Given the description of an element on the screen output the (x, y) to click on. 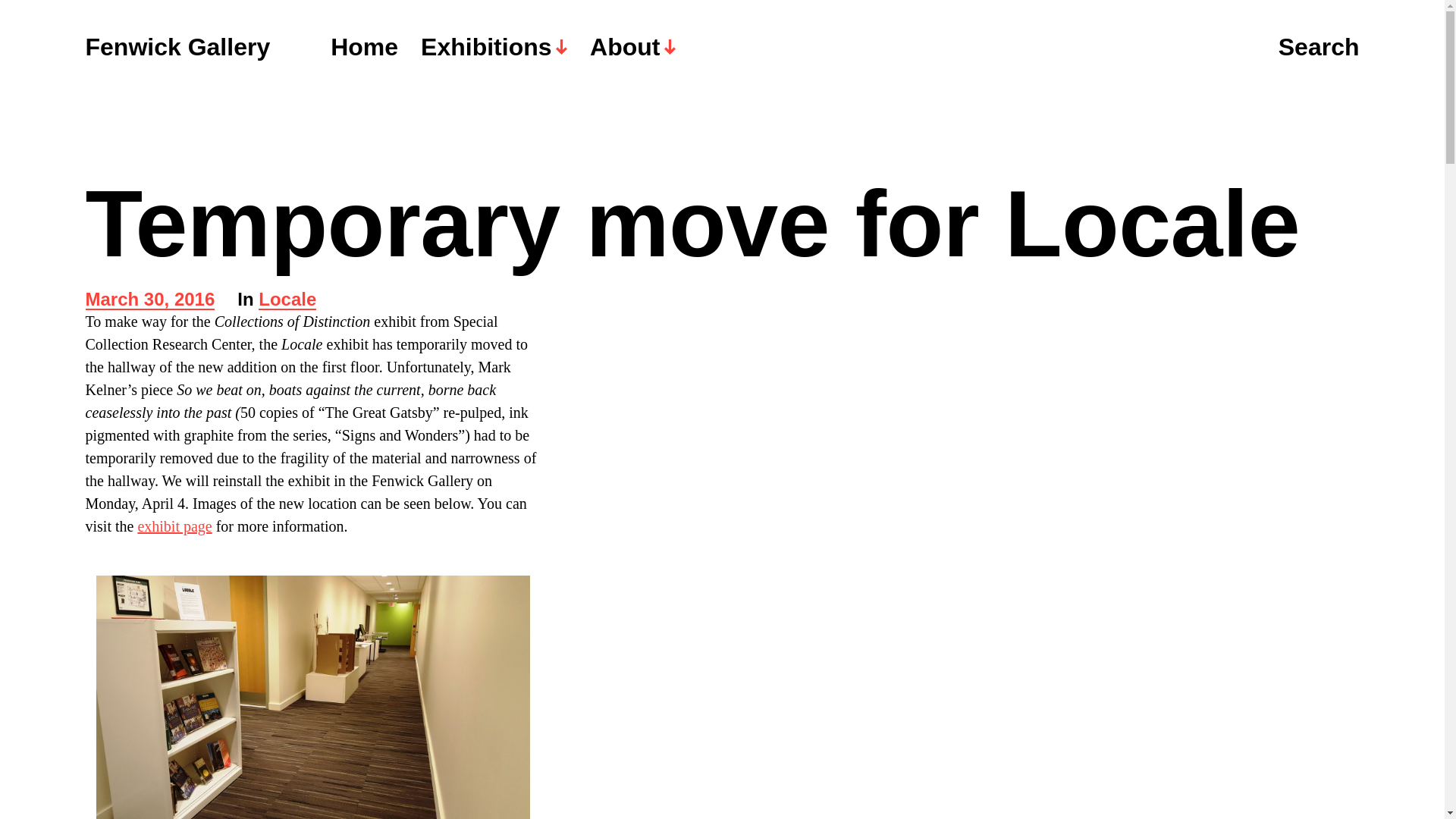
About (632, 47)
Locale (287, 300)
Fenwick Gallery (176, 47)
Search (1318, 47)
Exhibitions (493, 47)
Home (363, 47)
exhibit page (173, 525)
